Given the description of an element on the screen output the (x, y) to click on. 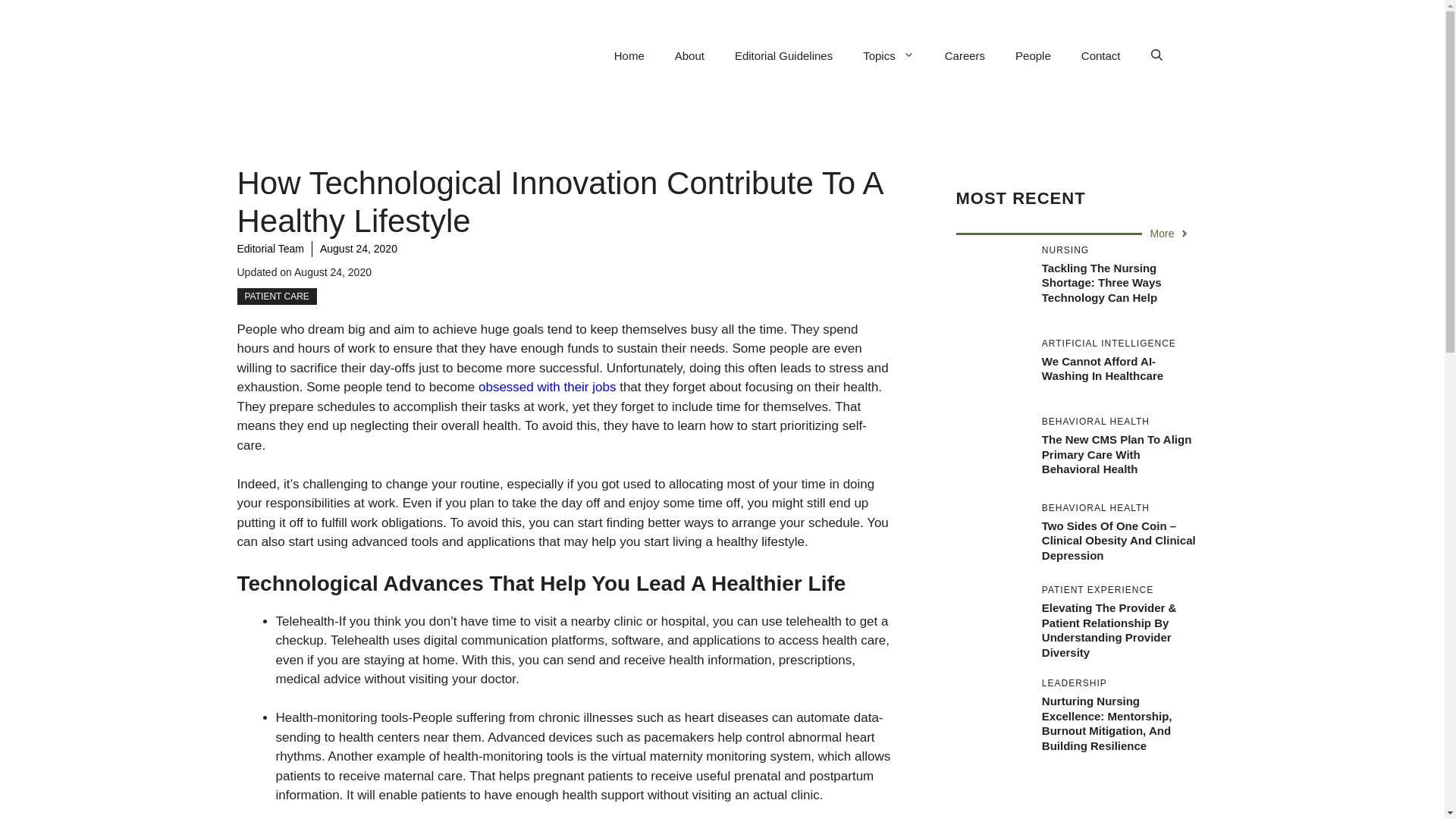
People (1032, 55)
Editorial Team (268, 248)
Editorial Guidelines (783, 55)
More (1170, 233)
Topics (888, 55)
Contact (1100, 55)
Careers (965, 55)
About (689, 55)
PATIENT CARE (275, 296)
obsessed with their jobs (547, 386)
Home (628, 55)
We Cannot Afford AI-Washing In Healthcare (1102, 368)
